Given the description of an element on the screen output the (x, y) to click on. 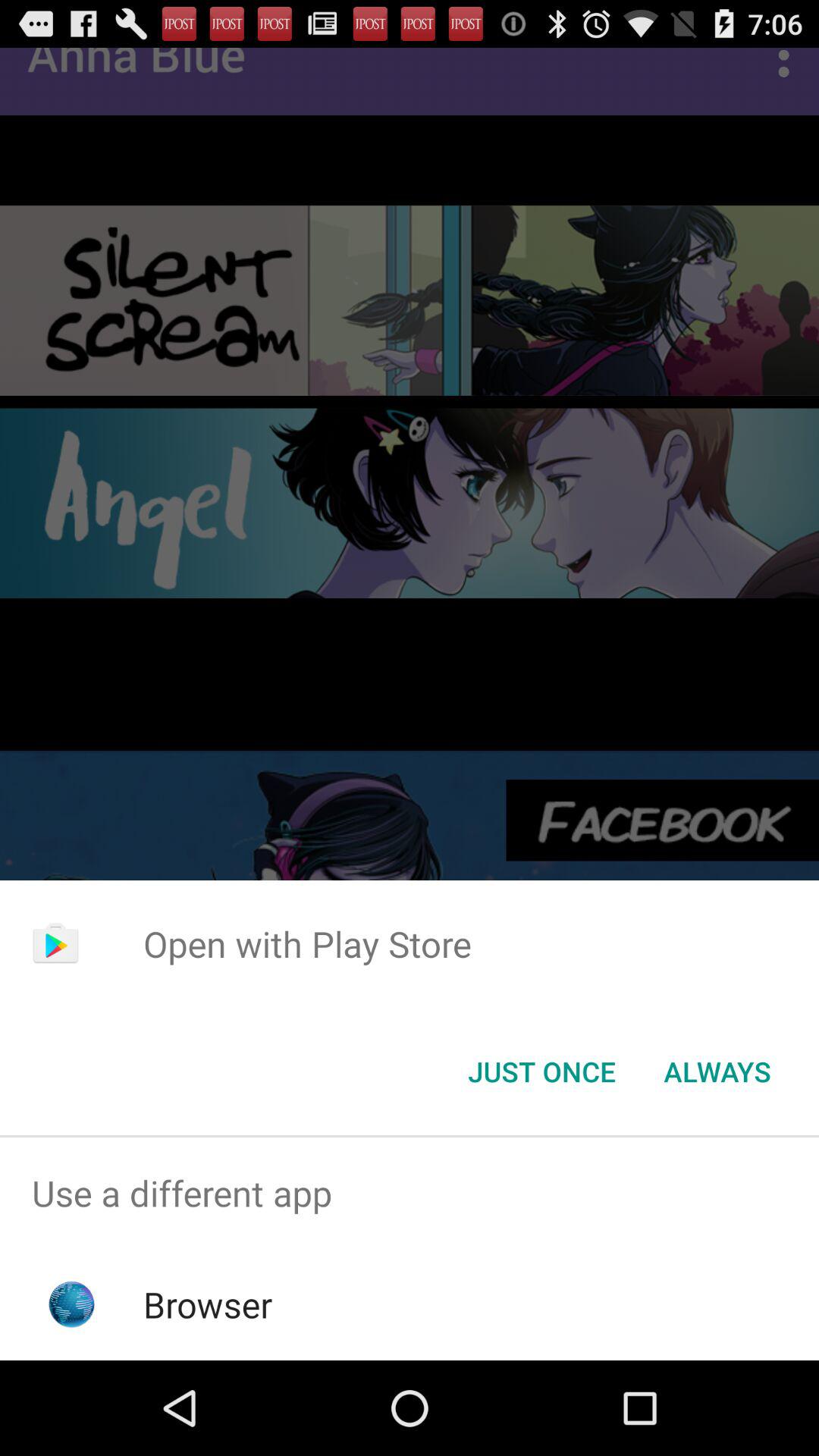
launch the always button (717, 1071)
